Given the description of an element on the screen output the (x, y) to click on. 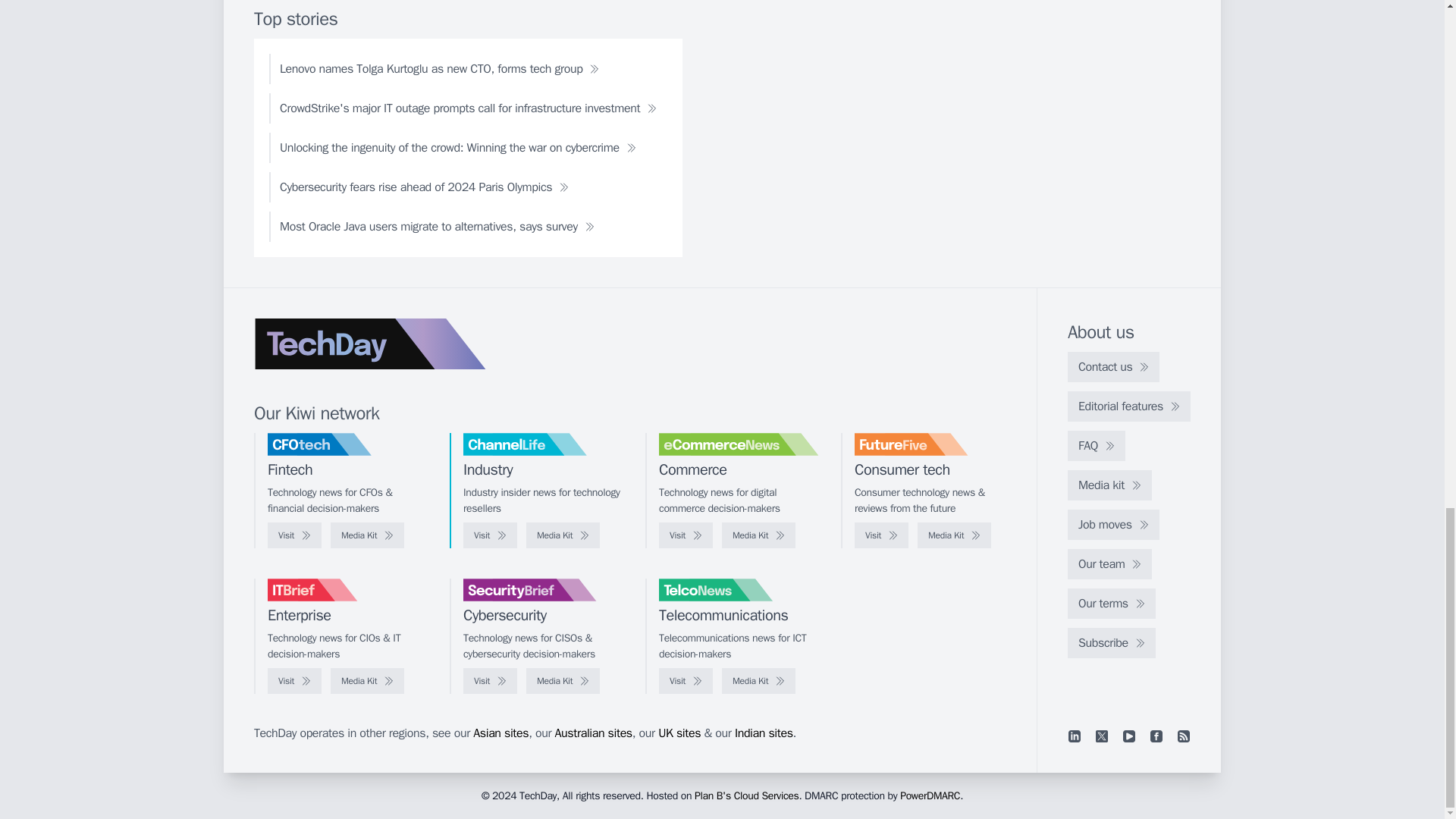
Cybersecurity fears rise ahead of 2024 Paris Olympics (424, 186)
Visit (294, 680)
Media Kit (367, 680)
Visit (686, 534)
Visit (881, 534)
Visit (489, 680)
Media Kit (954, 534)
Lenovo names Tolga Kurtoglu as new CTO, forms tech group (439, 69)
Media Kit (758, 534)
Visit (489, 534)
Most Oracle Java users migrate to alternatives, says survey (437, 226)
Media Kit (562, 680)
Media Kit (562, 534)
